Given the description of an element on the screen output the (x, y) to click on. 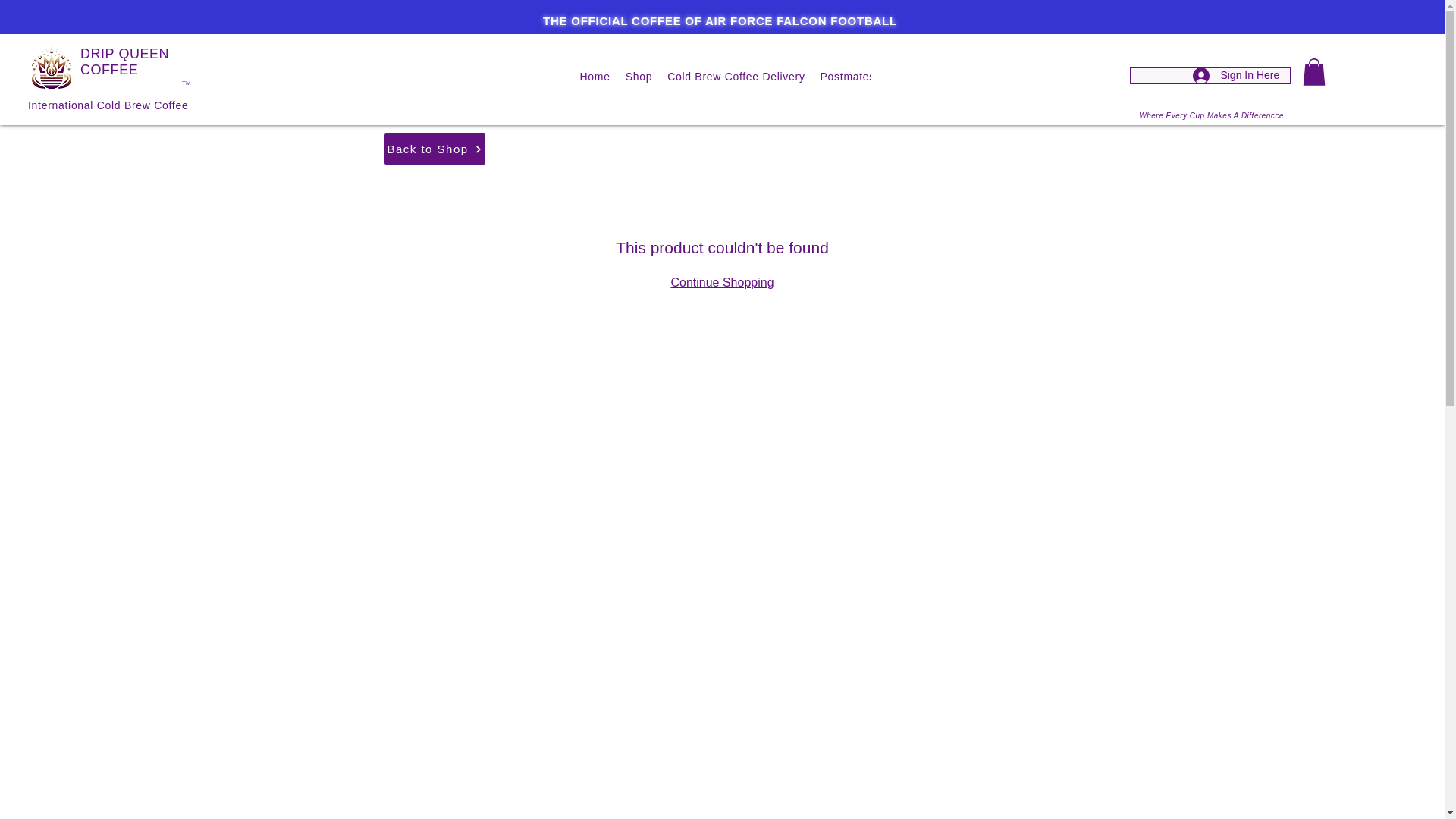
Newsroom (1002, 76)
Return Home  (50, 71)
Shop (639, 76)
Cold Brew Coffee Delivery (735, 76)
Back to Shop (434, 148)
Sign In Here (1236, 75)
Continue Shopping (721, 282)
Home (594, 76)
Events (1064, 76)
